Given the description of an element on the screen output the (x, y) to click on. 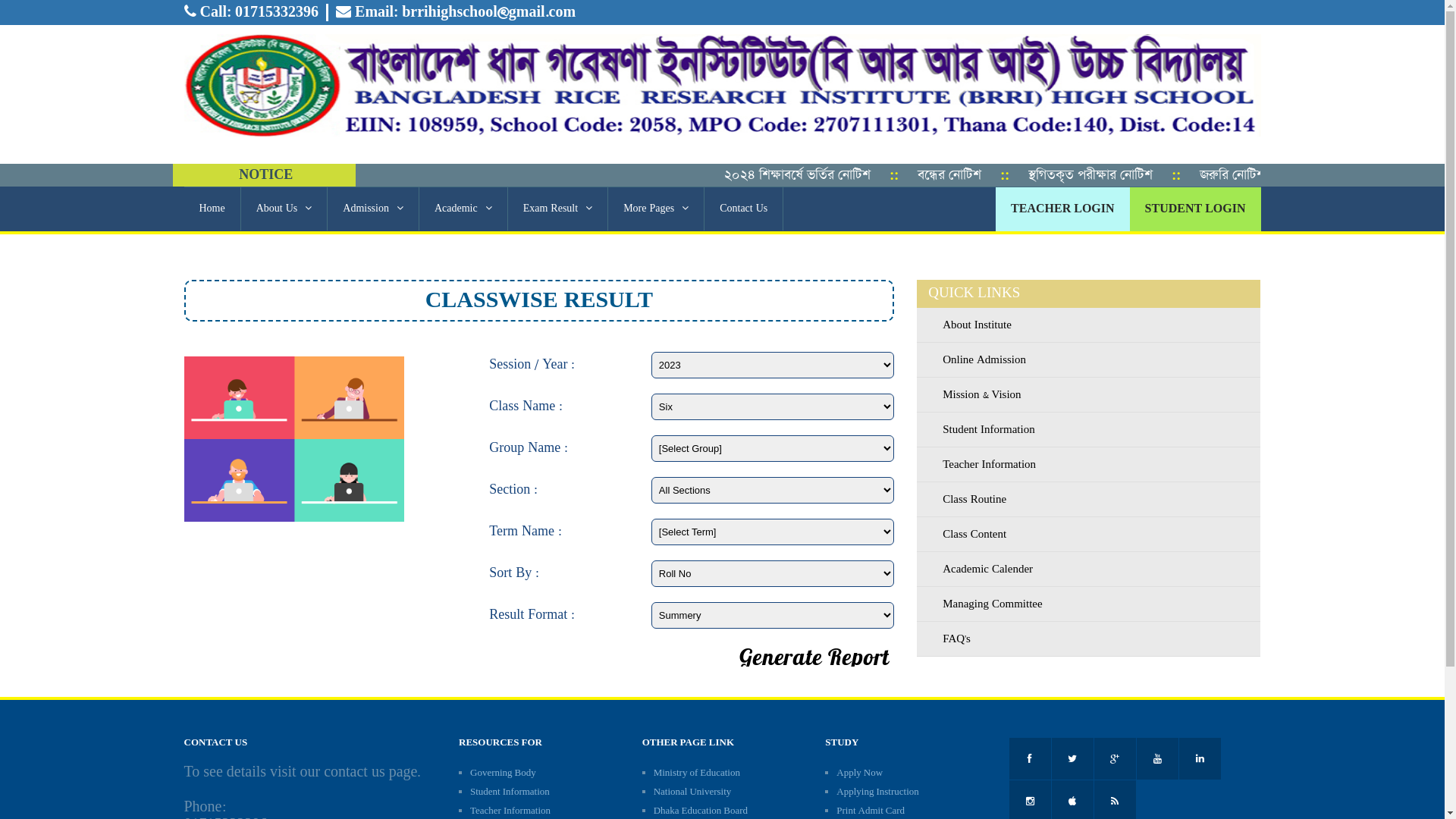
Student Information Element type: text (1088, 429)
Academic Element type: text (463, 208)
Governing Body Element type: text (503, 772)
National University Element type: text (692, 791)
Home Element type: text (211, 208)
FAQ's Element type: text (1088, 638)
Online Admission Element type: text (1088, 359)
Admission Element type: text (372, 208)
Managing Committee Element type: text (1088, 603)
Ministry of Education Element type: text (696, 772)
Student Information Element type: text (509, 791)
About Us Element type: text (284, 208)
Applying Instruction Element type: text (877, 791)
Print Admit Card Element type: text (870, 810)
Generate Report Element type: text (814, 656)
Teacher Information Element type: text (1088, 464)
Mission & Vision Element type: text (1088, 394)
brrihighschool@gmail.com Element type: text (488, 12)
Academic Calender Element type: text (1088, 569)
Contact Us Element type: text (743, 208)
More Pages Element type: text (655, 208)
Exam Result Element type: text (557, 208)
Class Routine Element type: text (1088, 499)
Dhaka Education Board Element type: text (700, 810)
Class Content Element type: text (1088, 534)
About Institute Element type: text (1088, 324)
Teacher Information Element type: text (510, 810)
Apply Now Element type: text (859, 772)
